Given the description of an element on the screen output the (x, y) to click on. 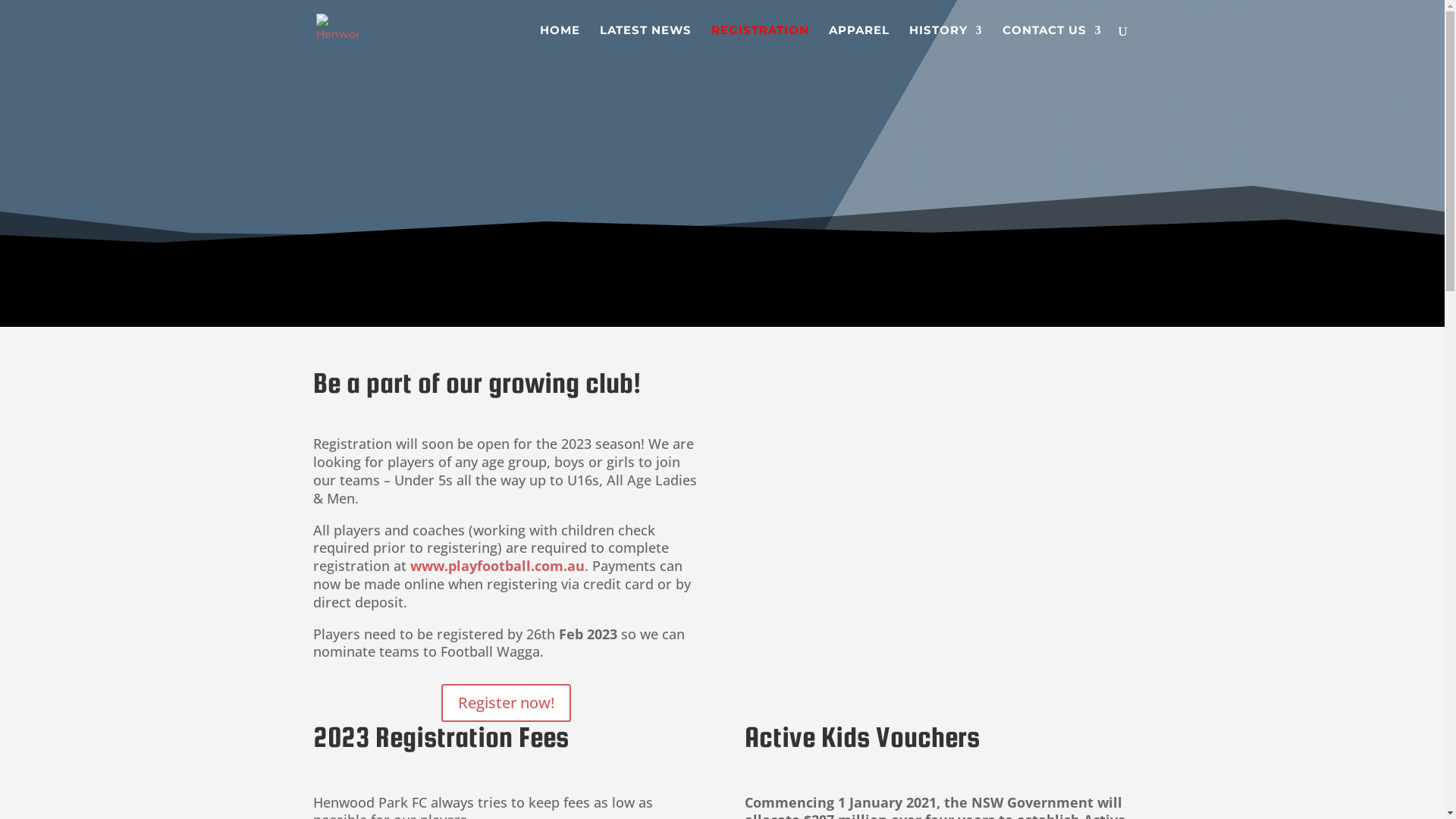
REGISTRATION Element type: text (760, 42)
APPAREL Element type: text (858, 42)
Register now! Element type: text (506, 702)
HOME Element type: text (559, 42)
HISTORY Element type: text (945, 42)
CONTACT US Element type: text (1051, 42)
www.playfootball.com.au Element type: text (496, 565)
LATEST NEWS Element type: text (644, 42)
